Given the description of an element on the screen output the (x, y) to click on. 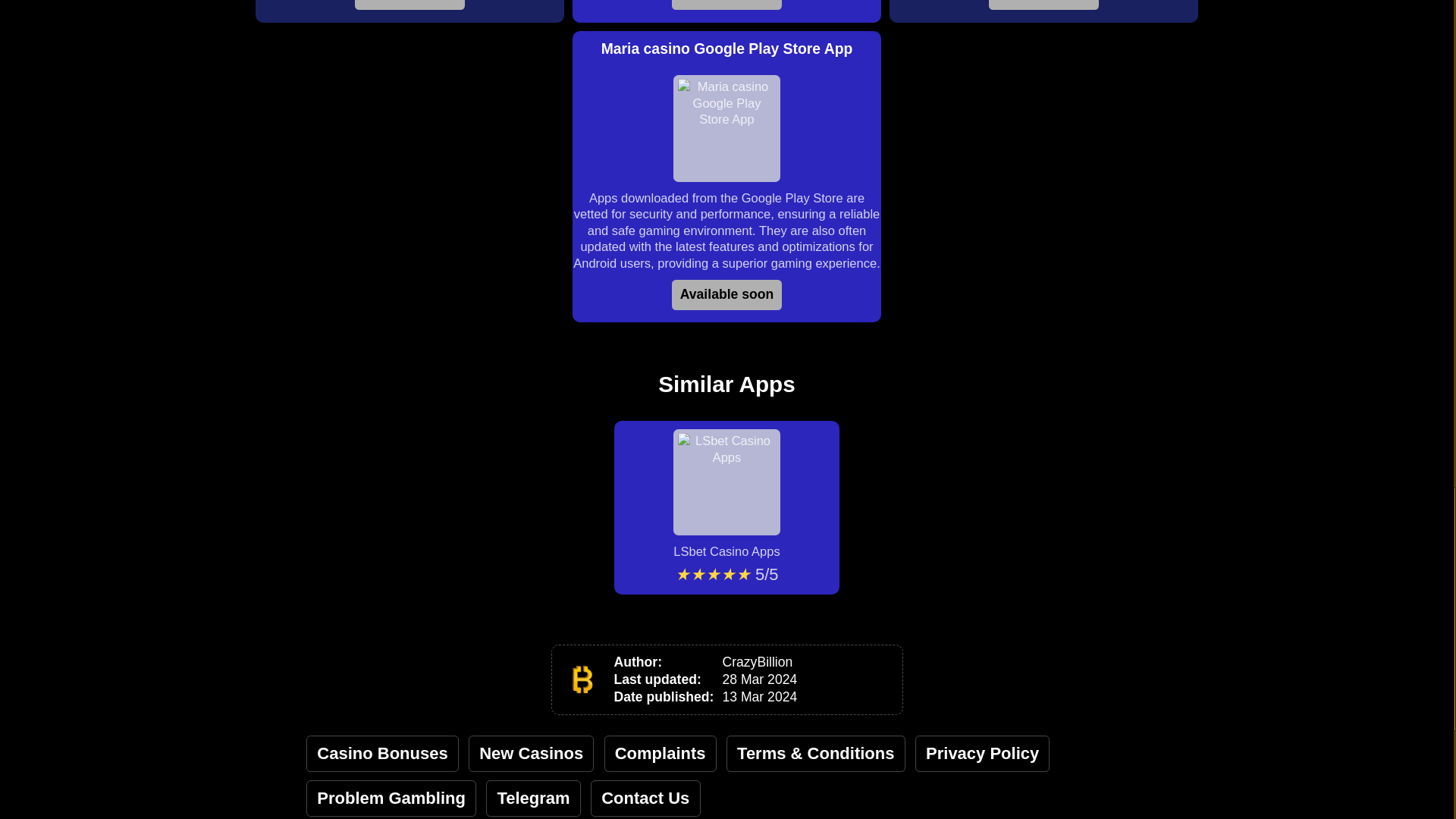
LSbet Casino Apps (727, 494)
